Given the description of an element on the screen output the (x, y) to click on. 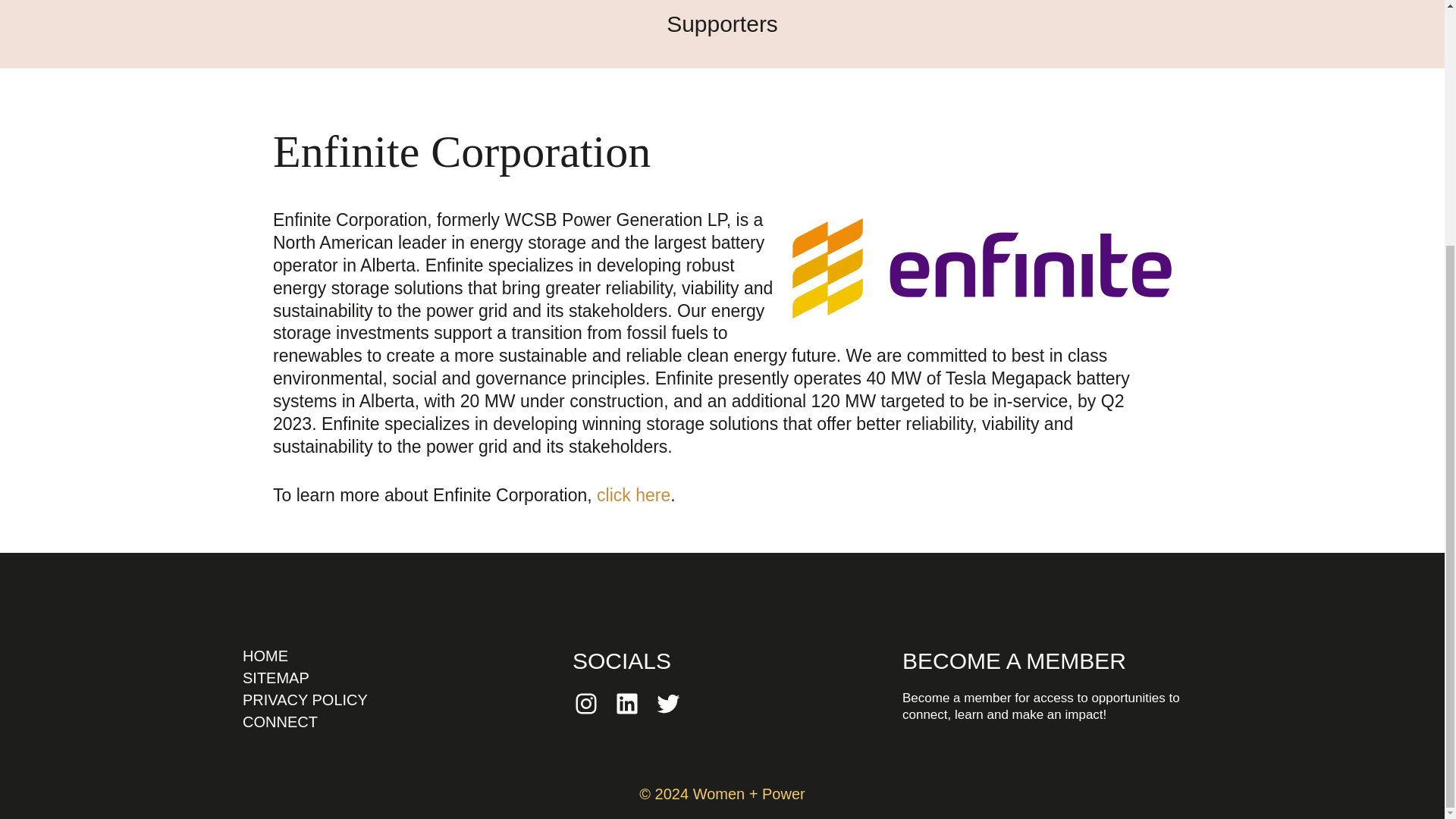
CONNECT (280, 721)
LinkedIn (626, 703)
PRIVACY POLICY (305, 699)
Twitter (667, 703)
Instagram (585, 703)
click here (632, 495)
SITEMAP (275, 677)
HOME (265, 655)
